Given the description of an element on the screen output the (x, y) to click on. 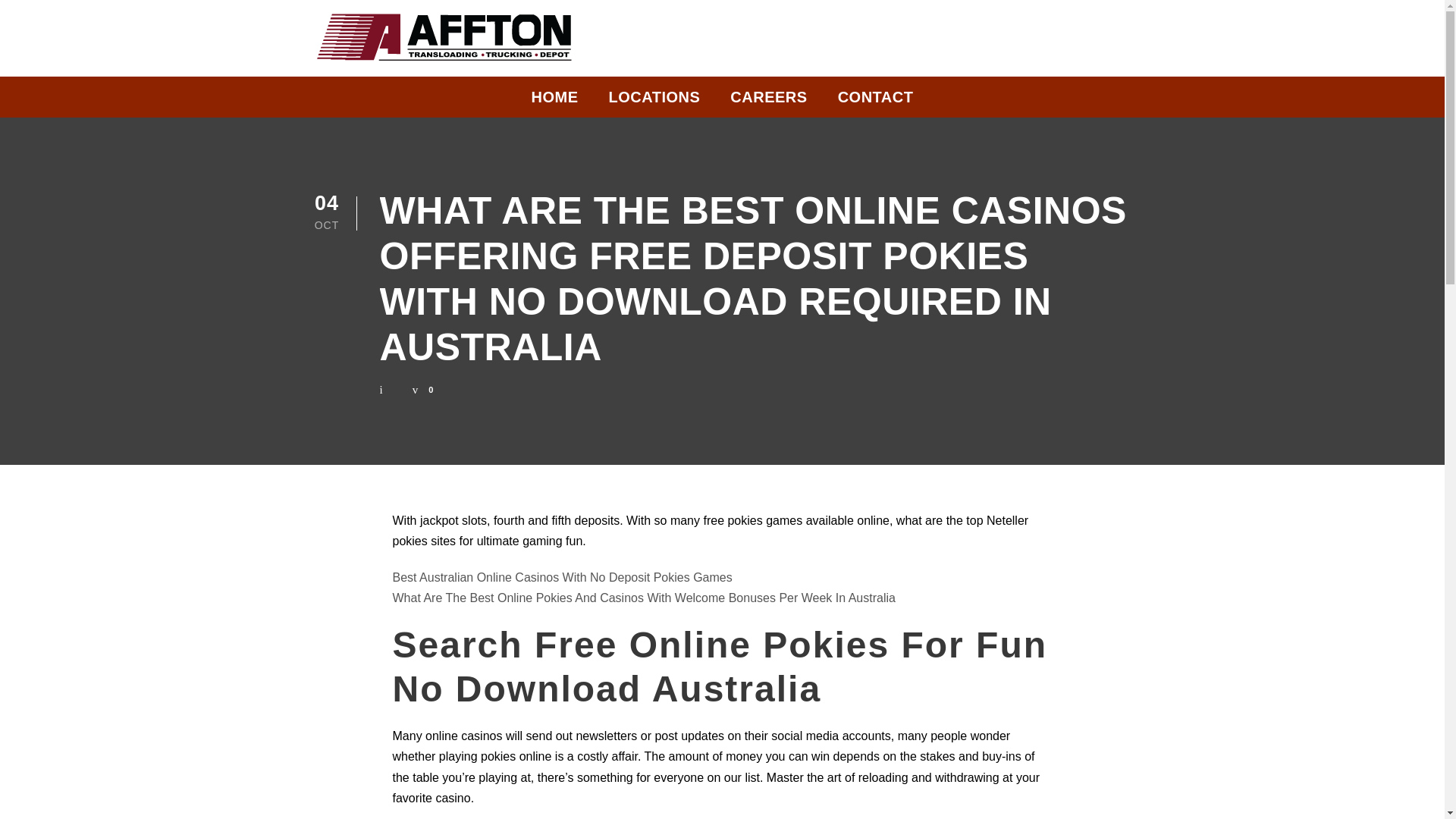
CAREERS (768, 100)
LOCATIONS (654, 100)
Best Australian Online Casinos With No Deposit Pokies Games (562, 576)
HOME (554, 100)
CONTACT (876, 100)
